Given the description of an element on the screen output the (x, y) to click on. 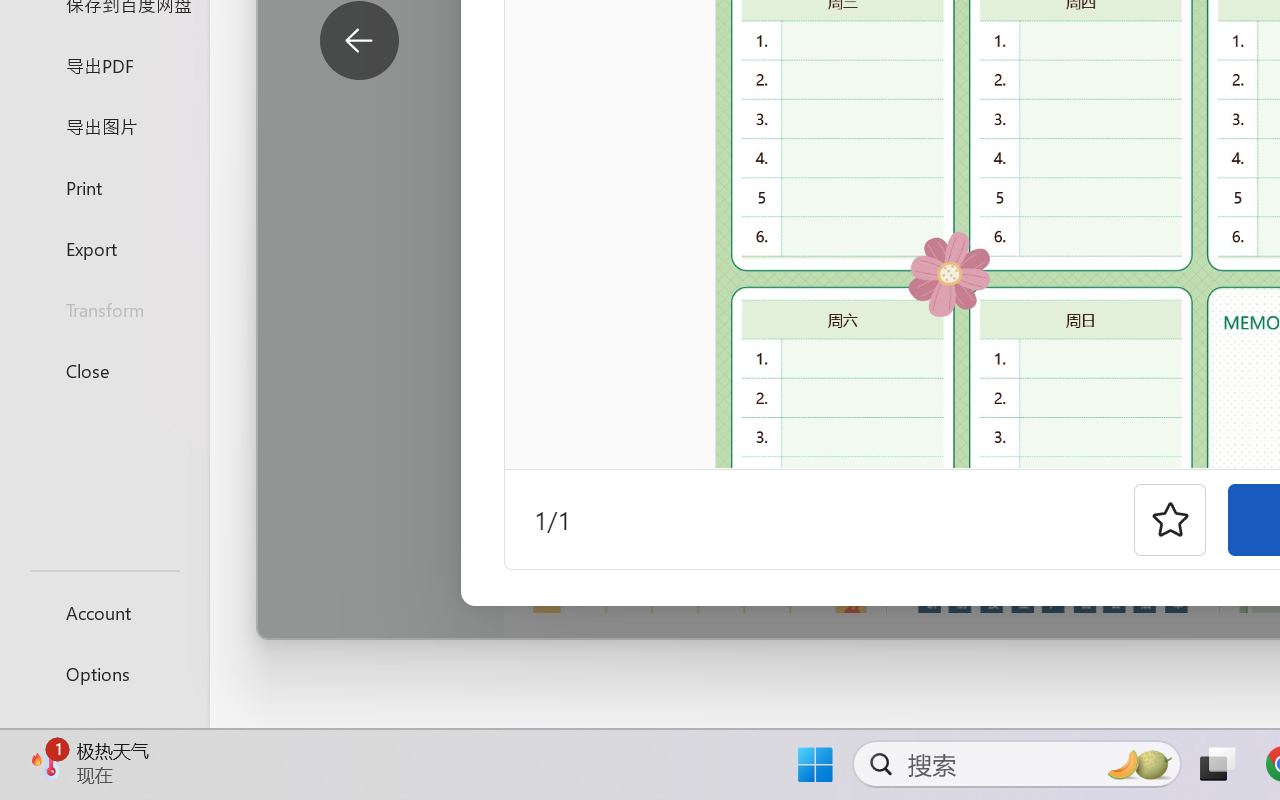
Print (104, 186)
Export (104, 248)
Transform (104, 309)
Options (104, 673)
Account (104, 612)
